Given the description of an element on the screen output the (x, y) to click on. 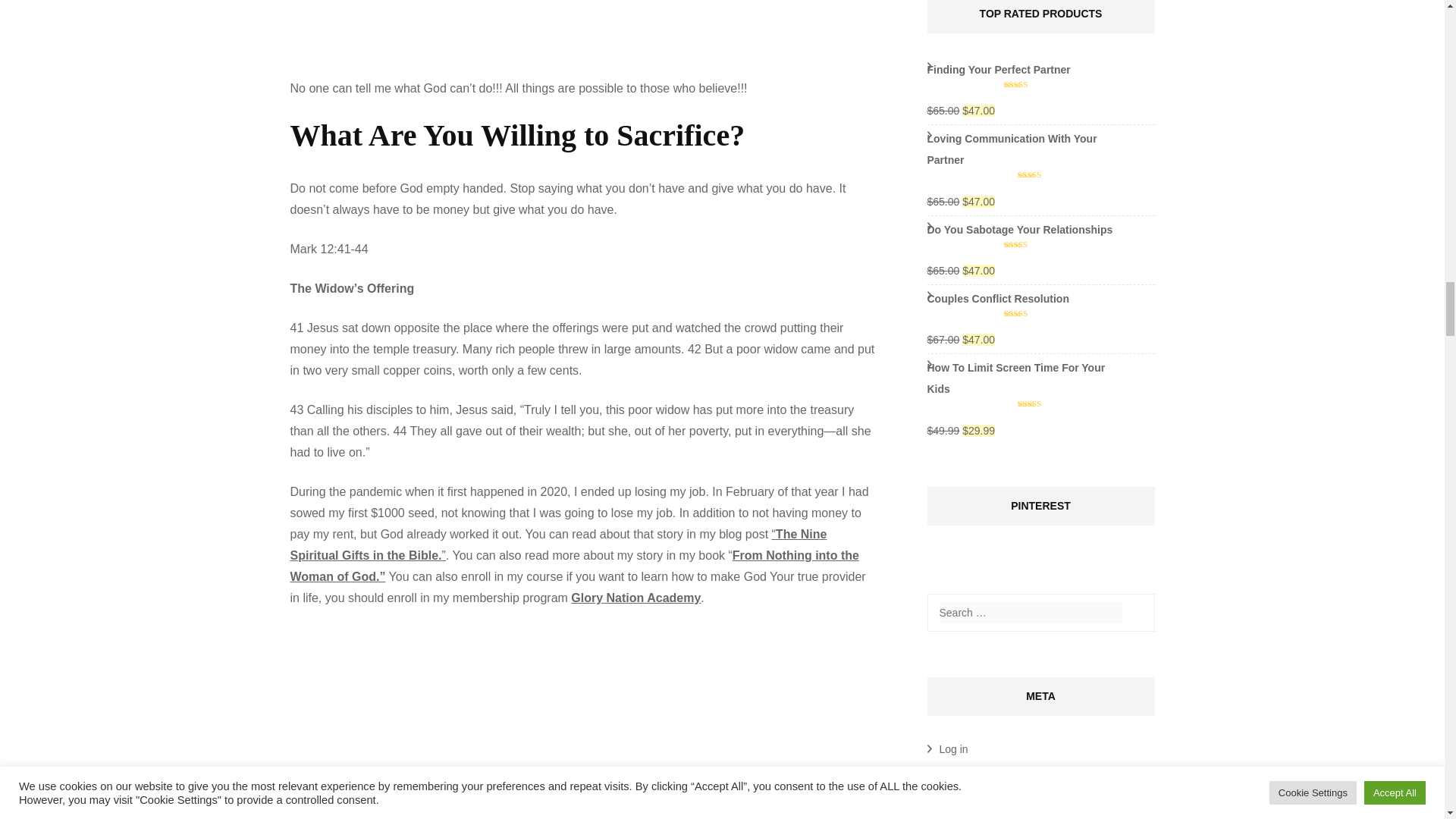
Search (1134, 612)
Search (1134, 612)
